Given the description of an element on the screen output the (x, y) to click on. 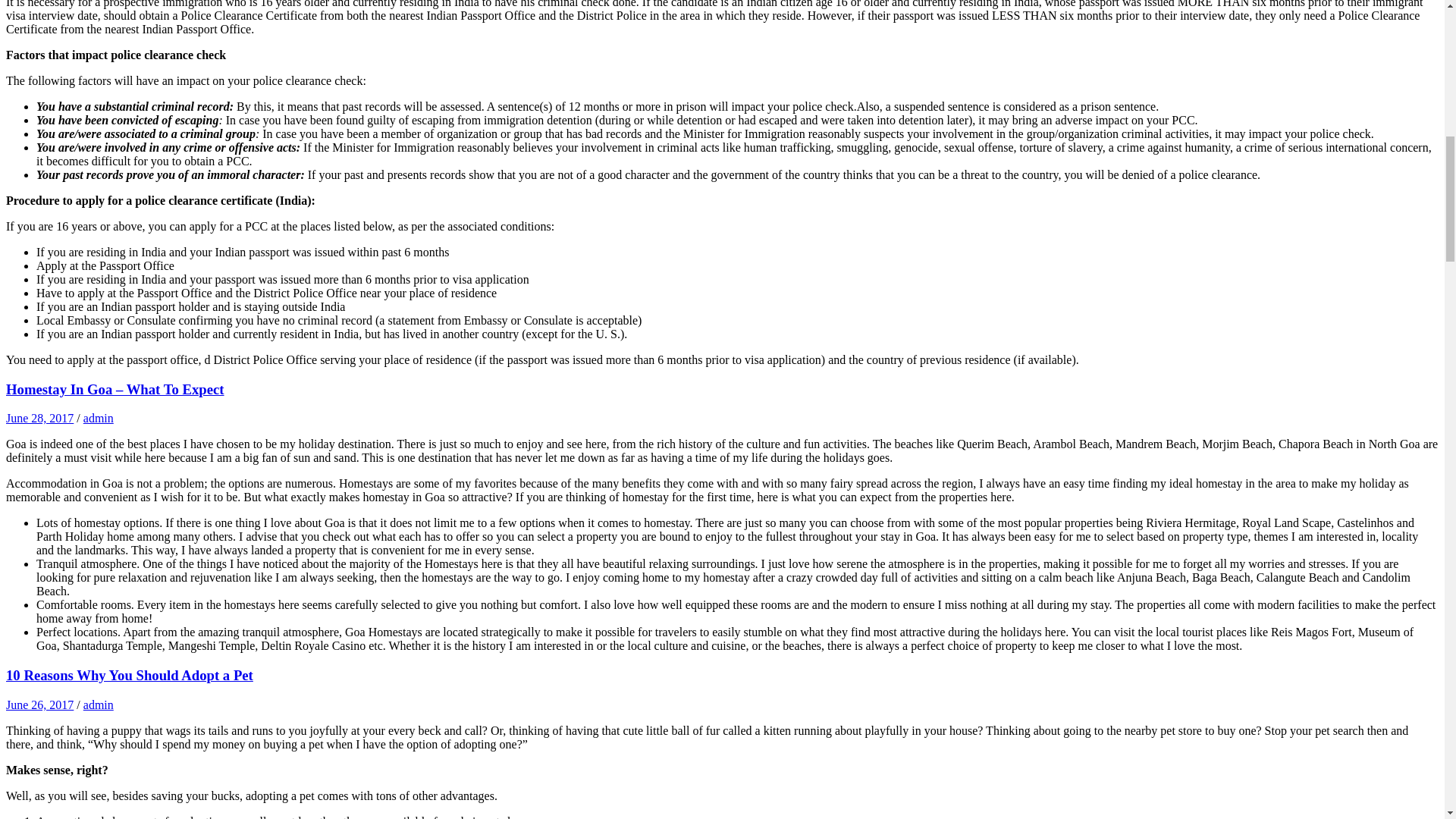
June 26, 2017 (39, 704)
admin (97, 418)
admin (97, 704)
June 28, 2017 (39, 418)
10 Reasons Why You Should Adopt a Pet (129, 675)
